Given the description of an element on the screen output the (x, y) to click on. 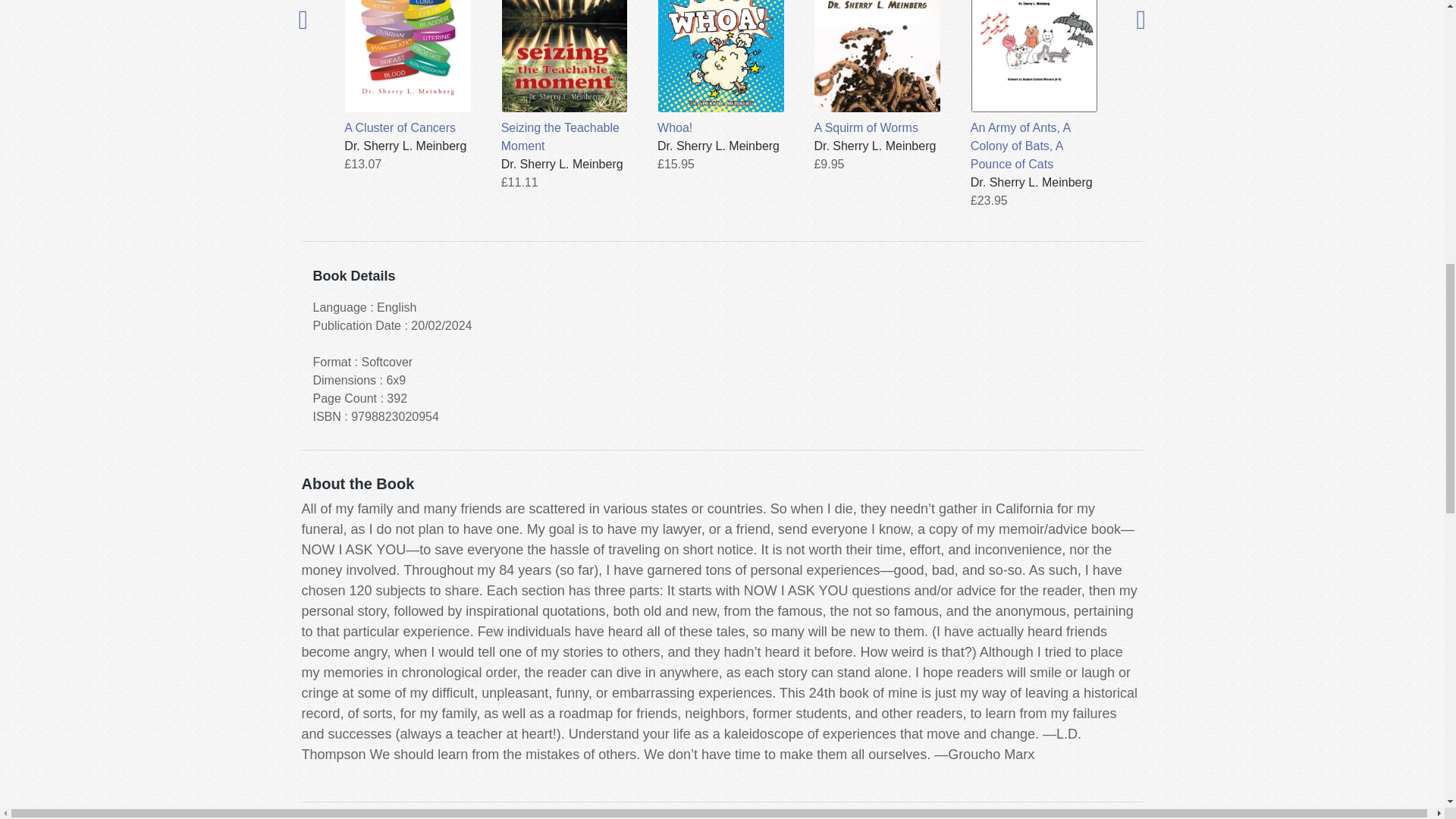
A Cluster of Cancers (407, 68)
Whoa! (721, 68)
A Squirm of Worms (876, 68)
